Given the description of an element on the screen output the (x, y) to click on. 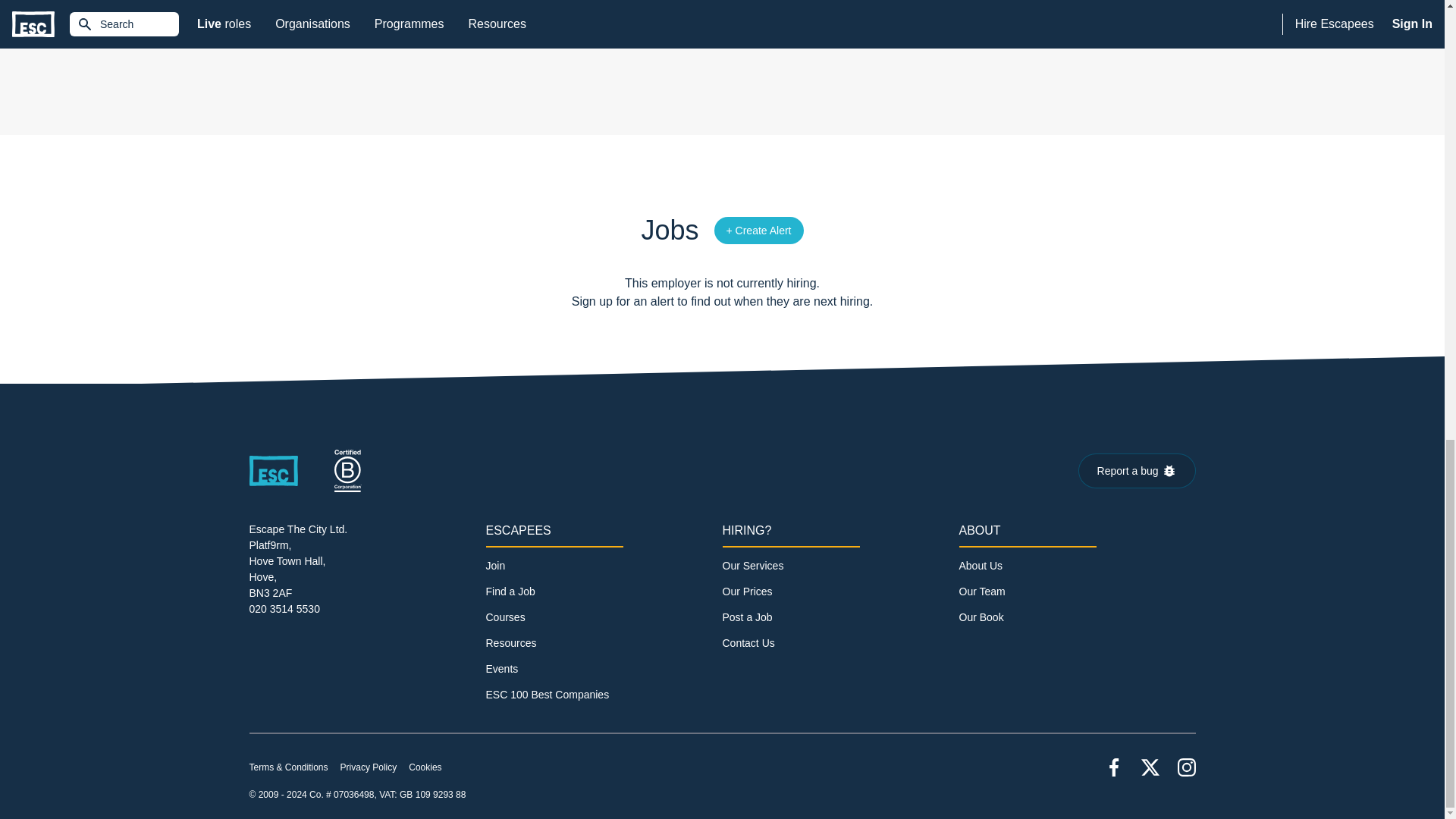
Courses (504, 616)
020 3514 5530 (283, 608)
Report a bug (1136, 470)
Join (494, 565)
Find a Job (509, 591)
